Given the description of an element on the screen output the (x, y) to click on. 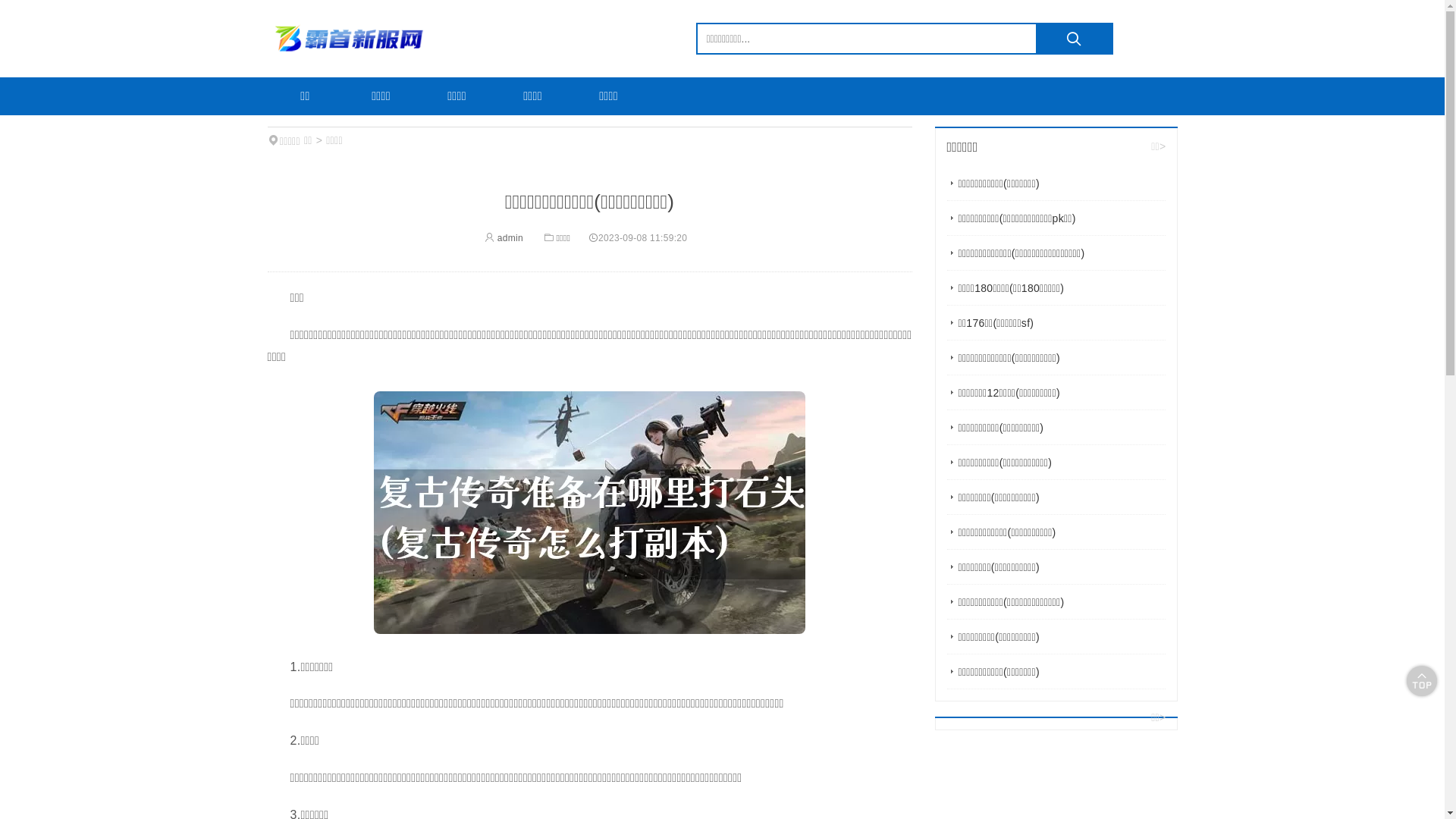
admin Element type: text (503, 237)
logo Element type: hover (349, 38)
